Given the description of an element on the screen output the (x, y) to click on. 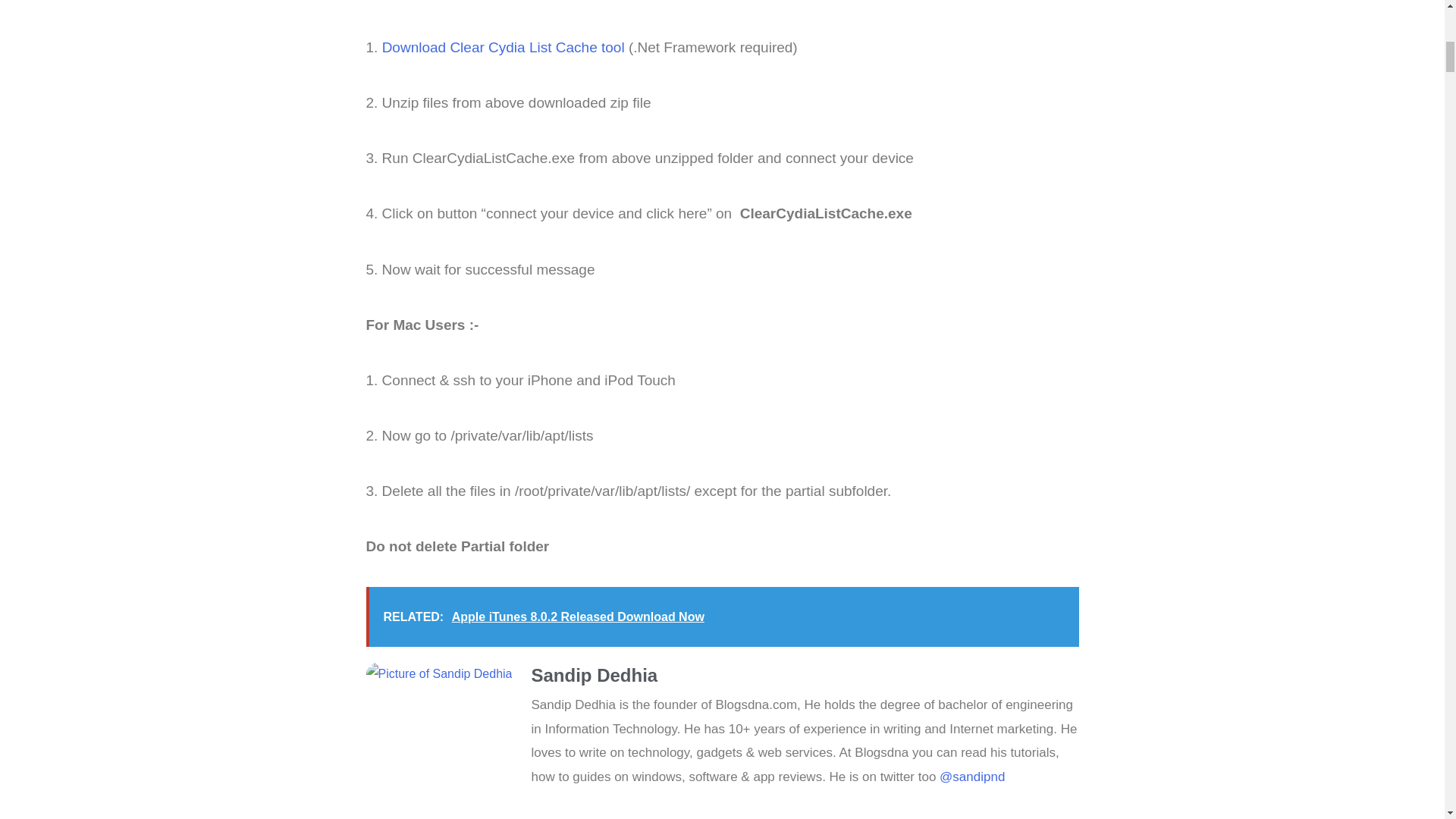
Sandip Dedhia (804, 675)
Download Clear Cydia List Cache tool (502, 47)
RELATED:  Apple iTunes 8.0.2 Released Download Now (721, 617)
Download ClearCydiaListCache.zip (502, 47)
